Given the description of an element on the screen output the (x, y) to click on. 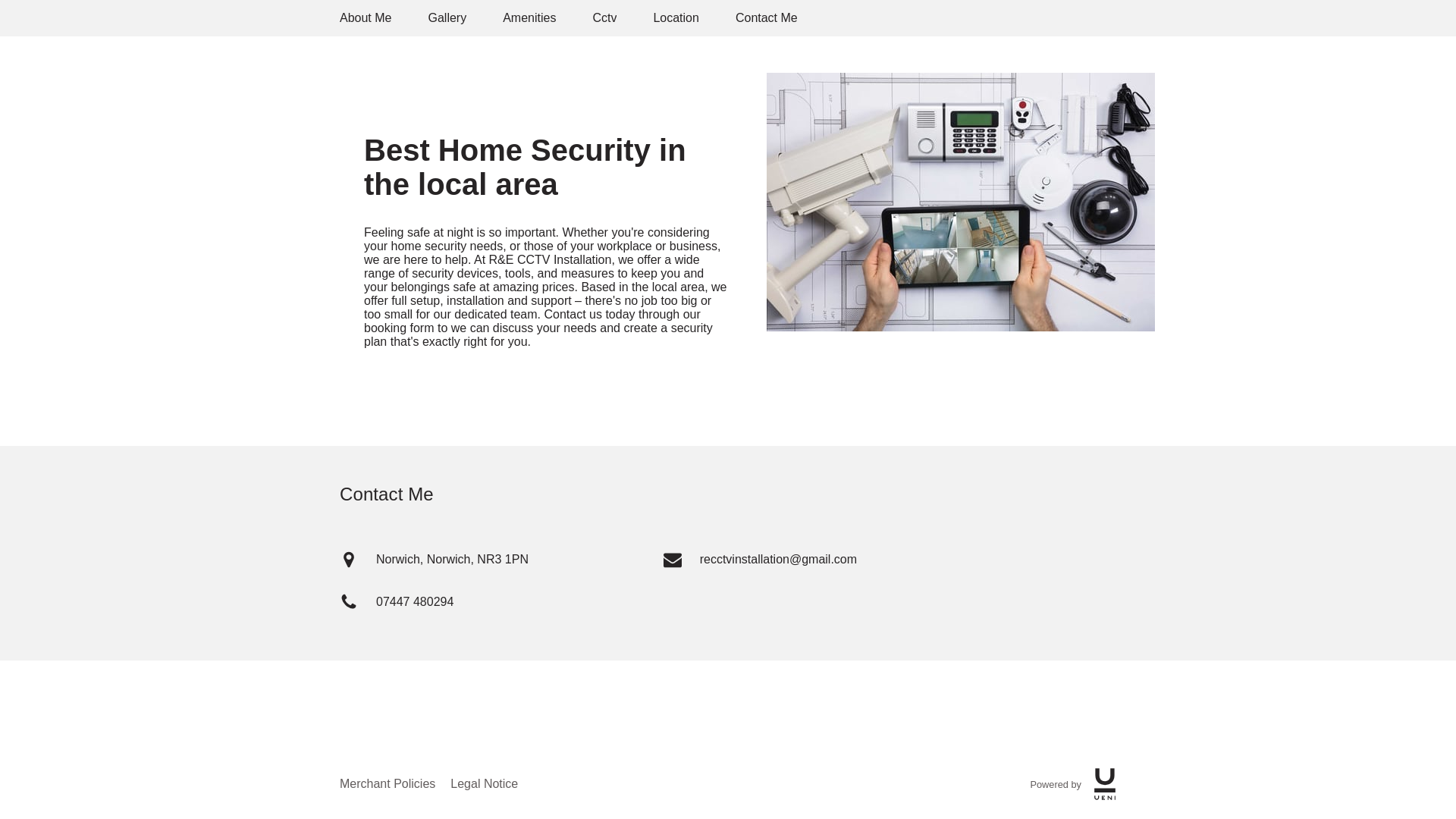
07447 480294 (498, 602)
Contact Me (766, 18)
About Me (365, 18)
Merchant Policies (387, 783)
Norwich, Norwich, NR3 1PN (498, 559)
Amenities (529, 18)
Cctv (603, 18)
Gallery (446, 18)
Legal Notice (483, 783)
Location (675, 18)
